Given the description of an element on the screen output the (x, y) to click on. 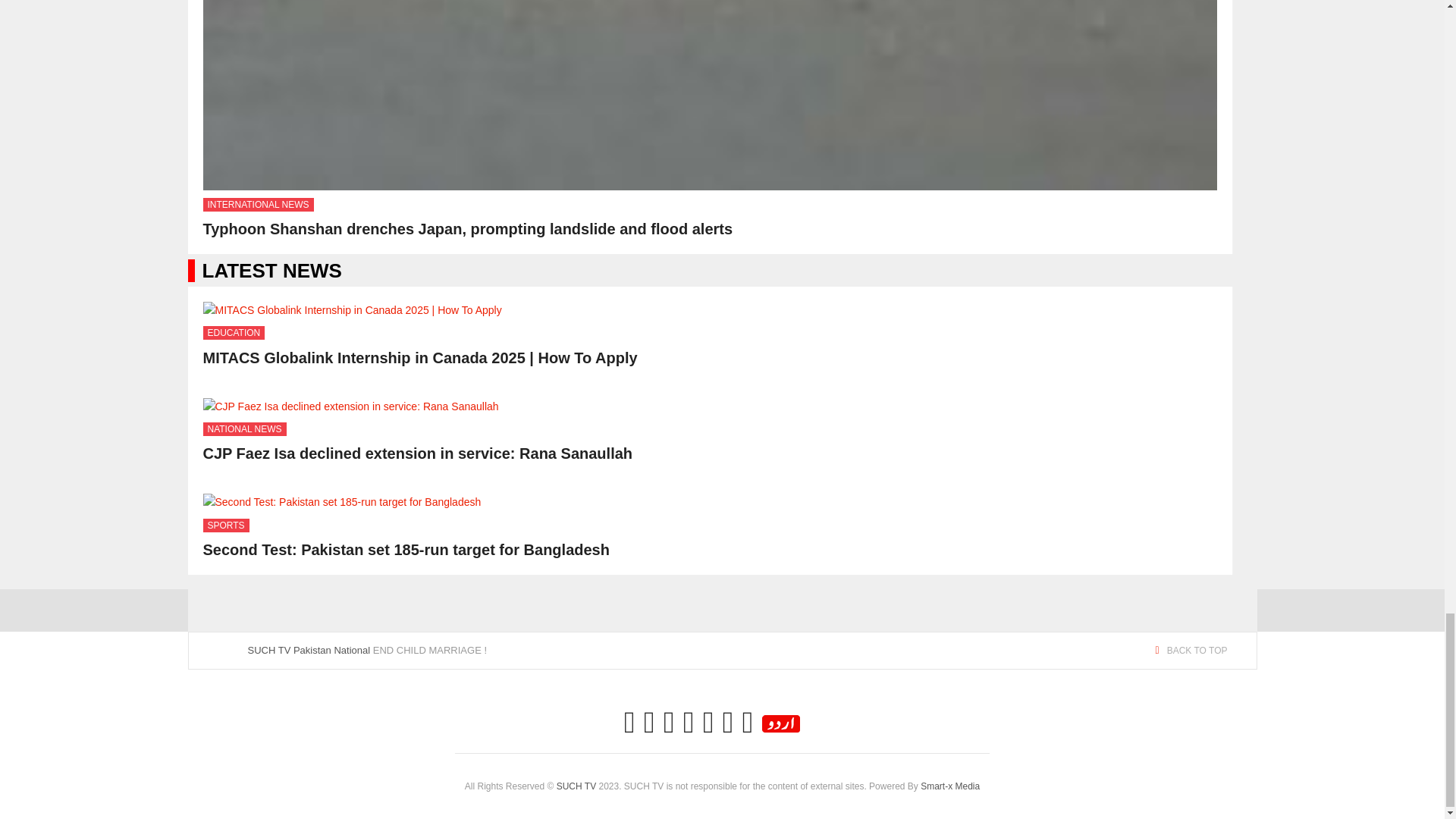
Second Test: Pakistan set 185-run target for Bangladesh (406, 549)
INTERNATIONAL NEWS (258, 204)
CJP Faez Isa declined extension in service: Rana Sanaullah (418, 453)
